Given the description of an element on the screen output the (x, y) to click on. 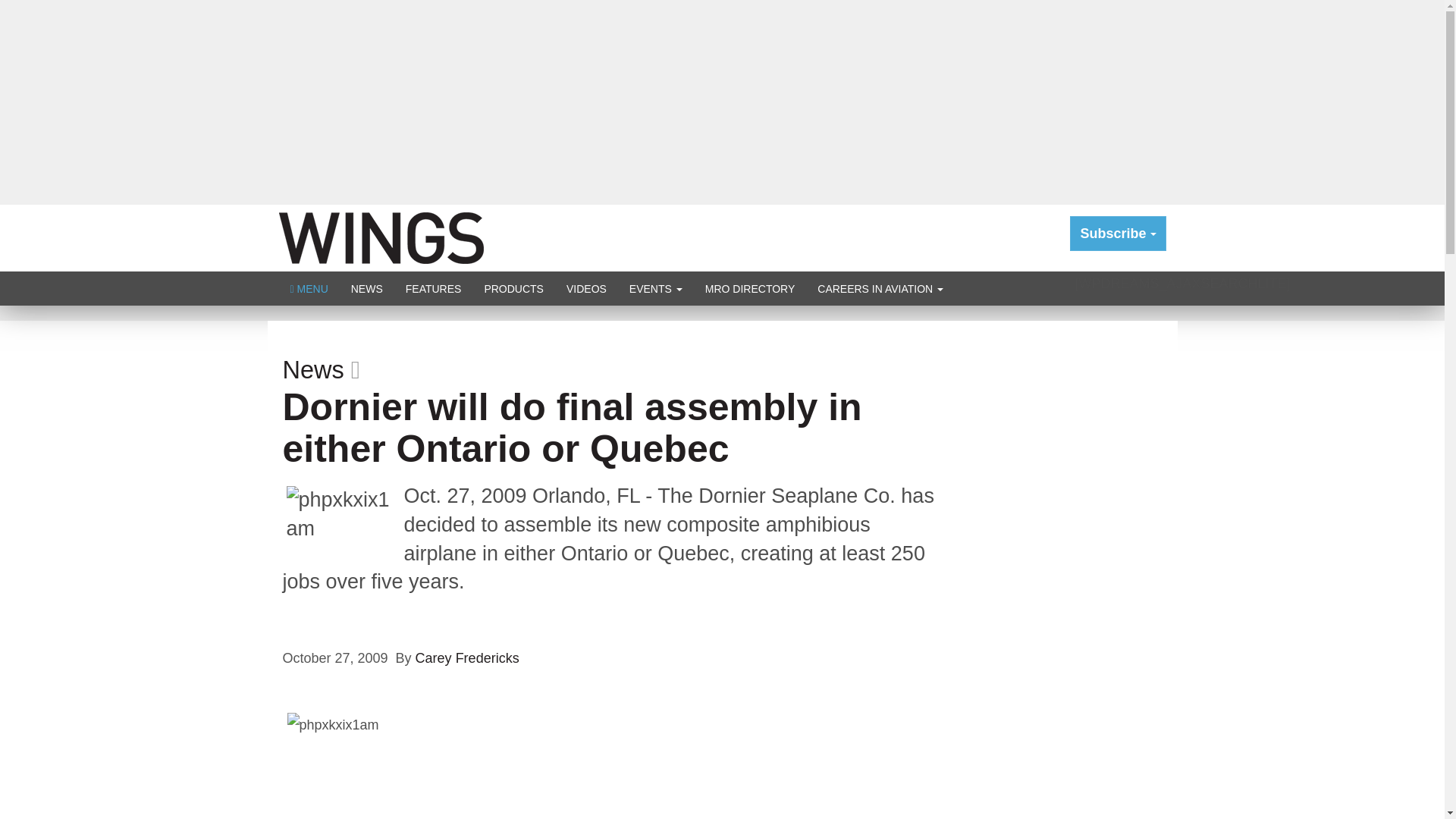
Subscribe (1118, 233)
EVENTS (655, 288)
MRO DIRECTORY (750, 288)
Wings Magazine (381, 237)
phpxkxix1am (343, 523)
CAREERS IN AVIATION (880, 288)
NEWS (366, 288)
Click to show site navigation (309, 288)
phpxkxix1am (418, 765)
PRODUCTS (512, 288)
